Given the description of an element on the screen output the (x, y) to click on. 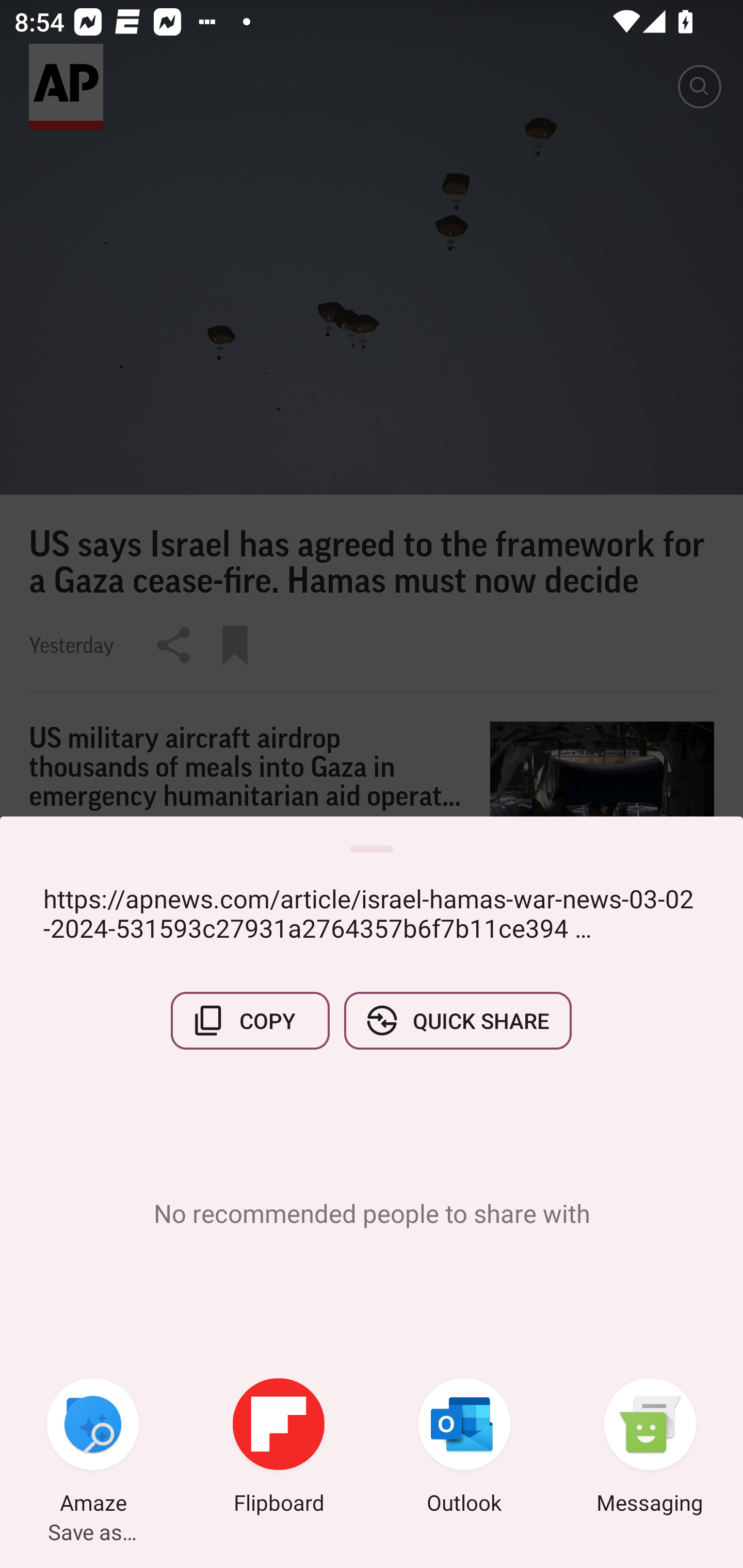
COPY (249, 1020)
QUICK SHARE (457, 1020)
Amaze Save as… (92, 1448)
Flipboard (278, 1448)
Outlook (464, 1448)
Messaging (650, 1448)
